Given the description of an element on the screen output the (x, y) to click on. 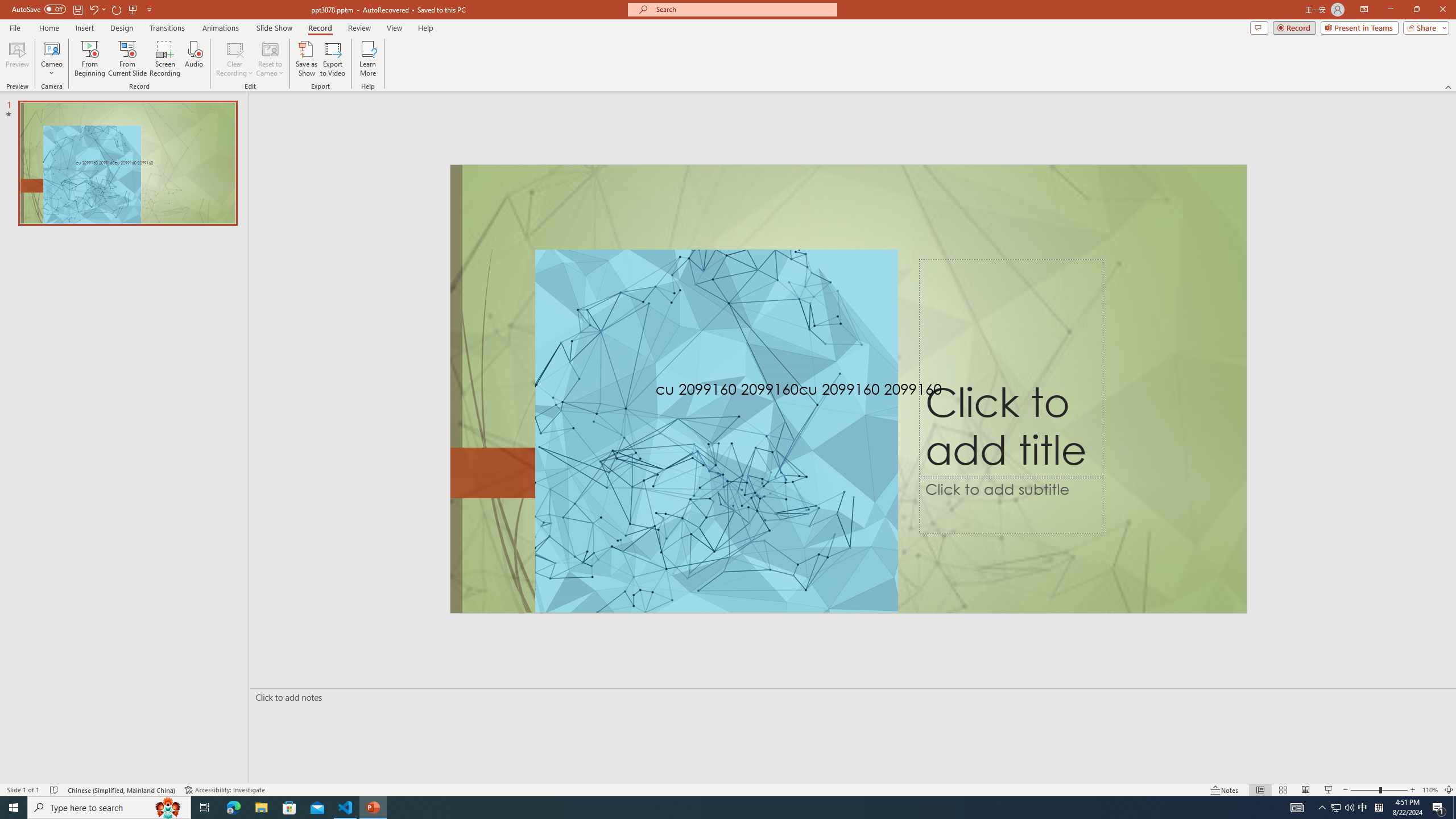
Design (122, 28)
Comments (1259, 27)
Slide (127, 163)
Zoom In (1412, 790)
Accessibility Checker Accessibility: Investigate (224, 790)
Reset to Cameo (269, 58)
Collapse the Ribbon (1448, 86)
Class: MsoCommandBar (728, 789)
Share (1423, 27)
Transitions (167, 28)
Normal (1260, 790)
